Given the description of an element on the screen output the (x, y) to click on. 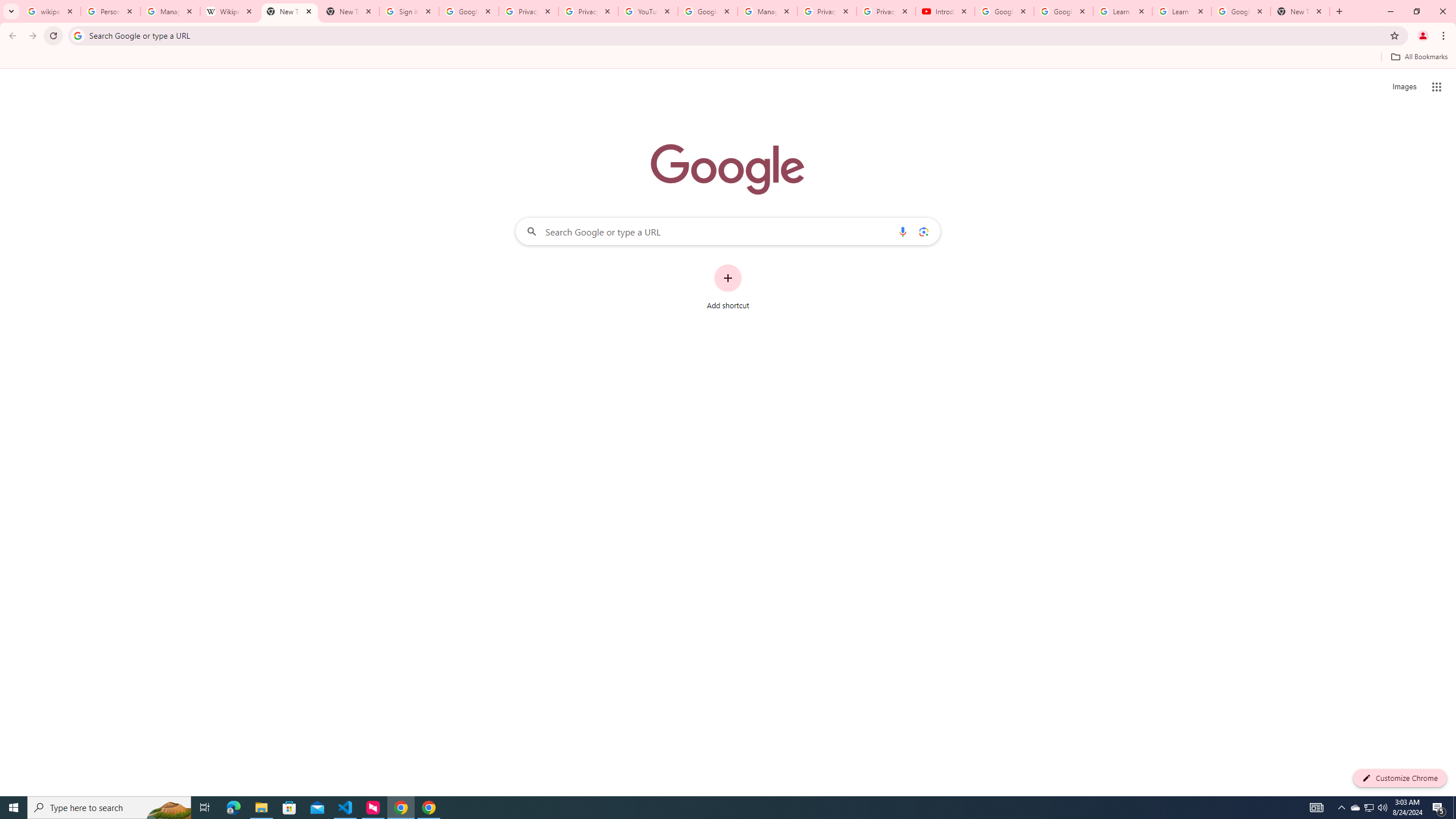
Introduction | Google Privacy Policy - YouTube (944, 11)
Sign in - Google Accounts (409, 11)
Wikipedia:Edit requests - Wikipedia (229, 11)
Google Account Help (707, 11)
New Tab (1300, 11)
Google Account (1241, 11)
